Given the description of an element on the screen output the (x, y) to click on. 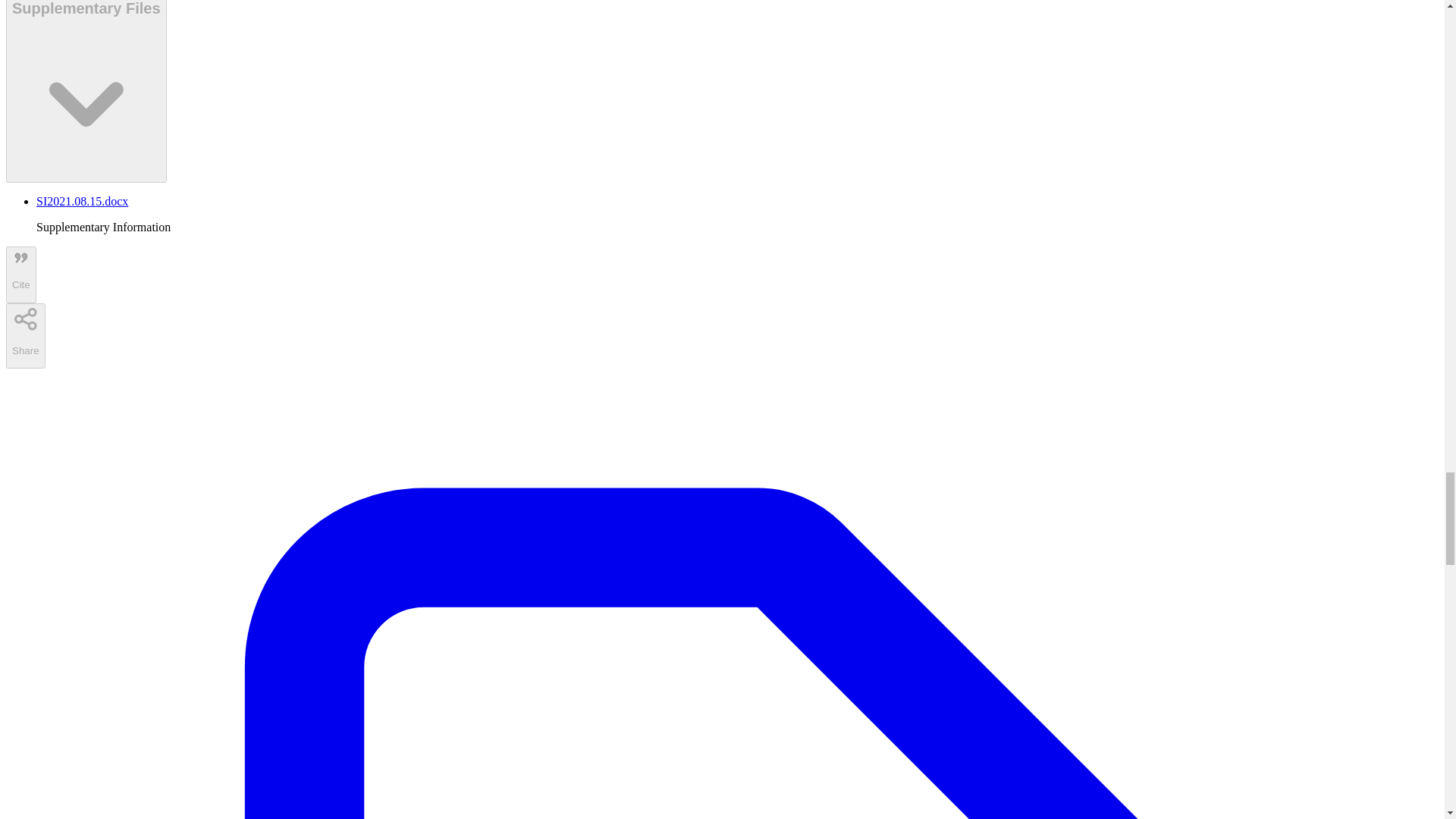
Cite (20, 274)
Share (25, 335)
Supplementary Files (86, 91)
SI2021.08.15.docx (82, 201)
